Given the description of an element on the screen output the (x, y) to click on. 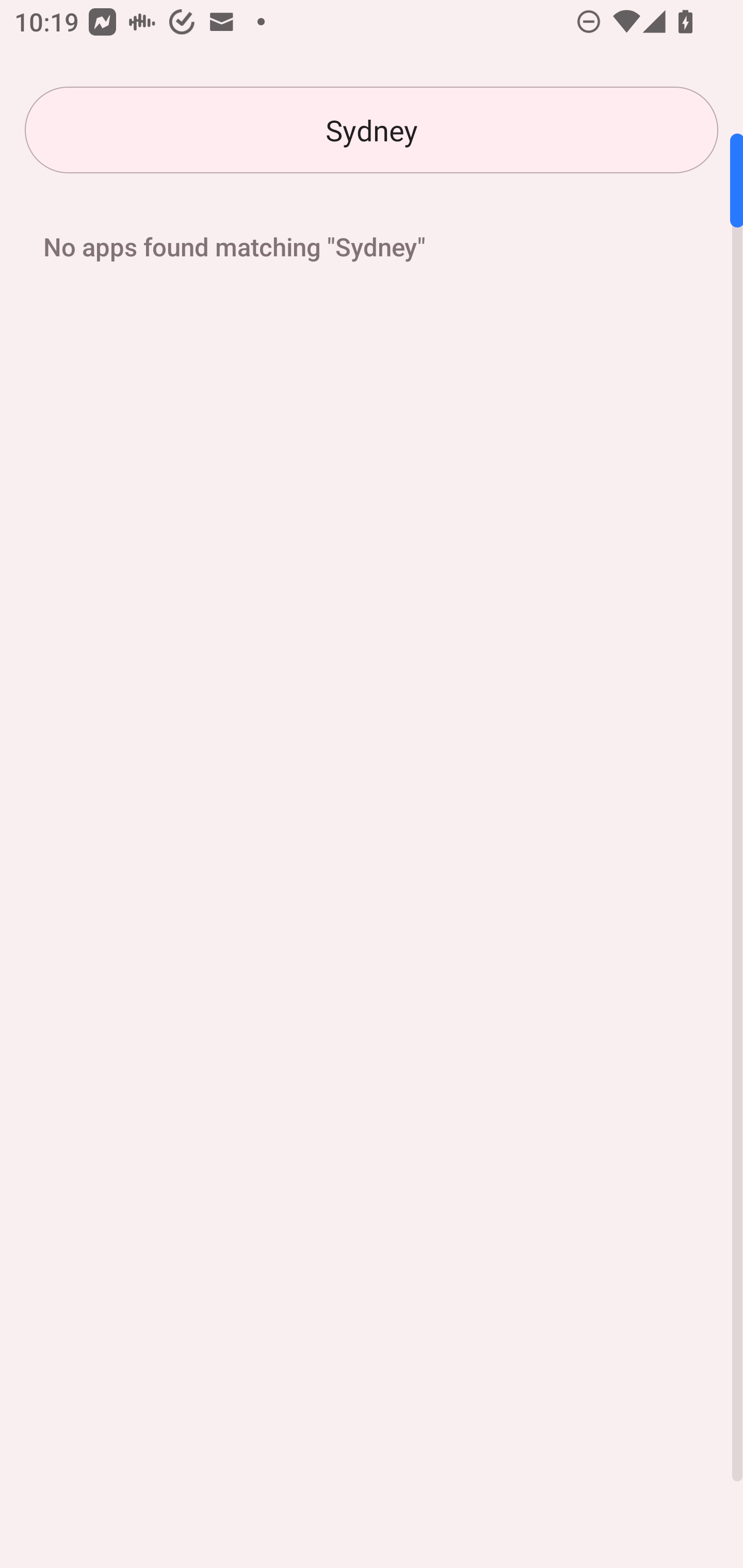
Sydney (371, 130)
